Given the description of an element on the screen output the (x, y) to click on. 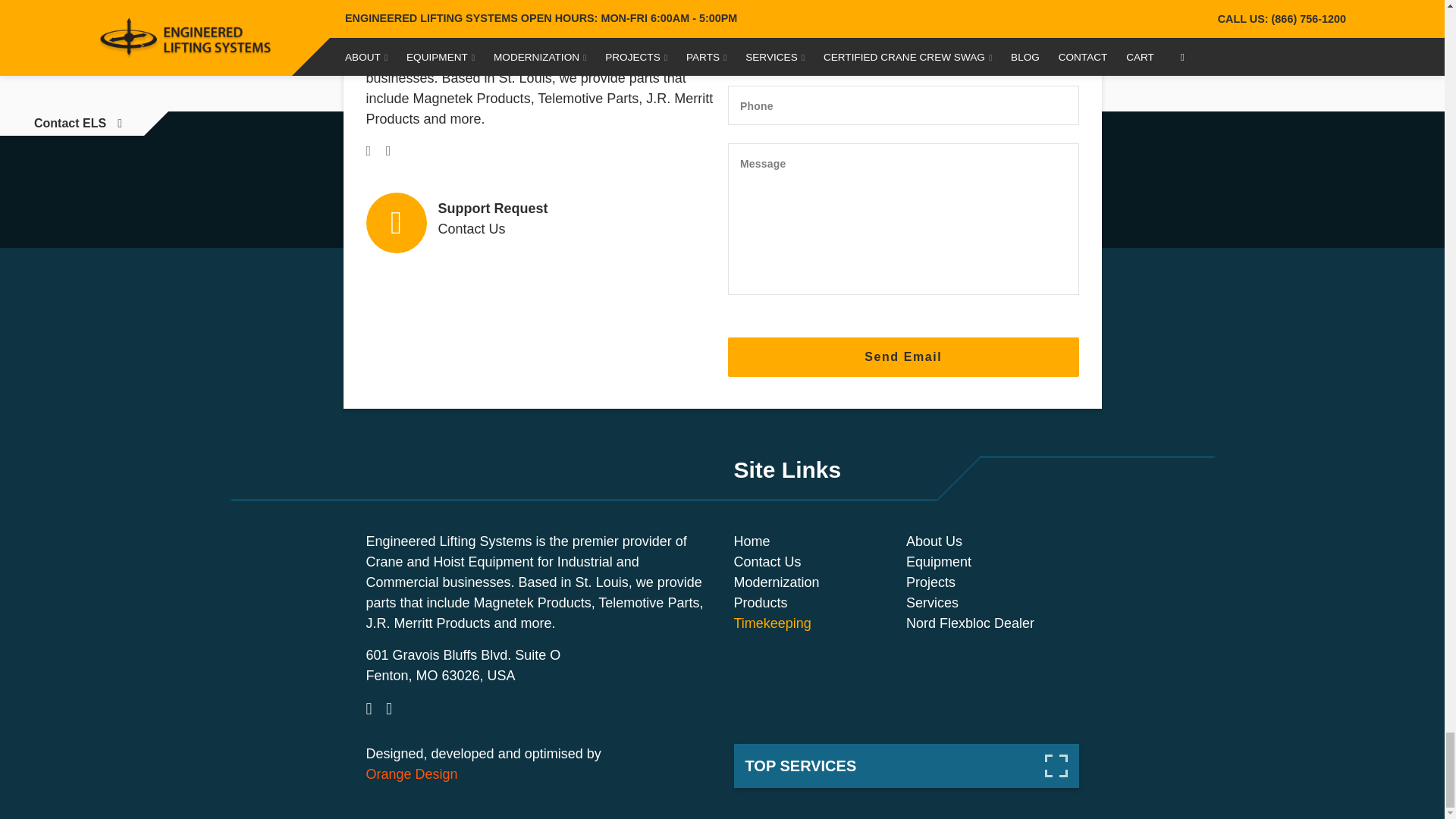
Send Email (903, 356)
